Given the description of an element on the screen output the (x, y) to click on. 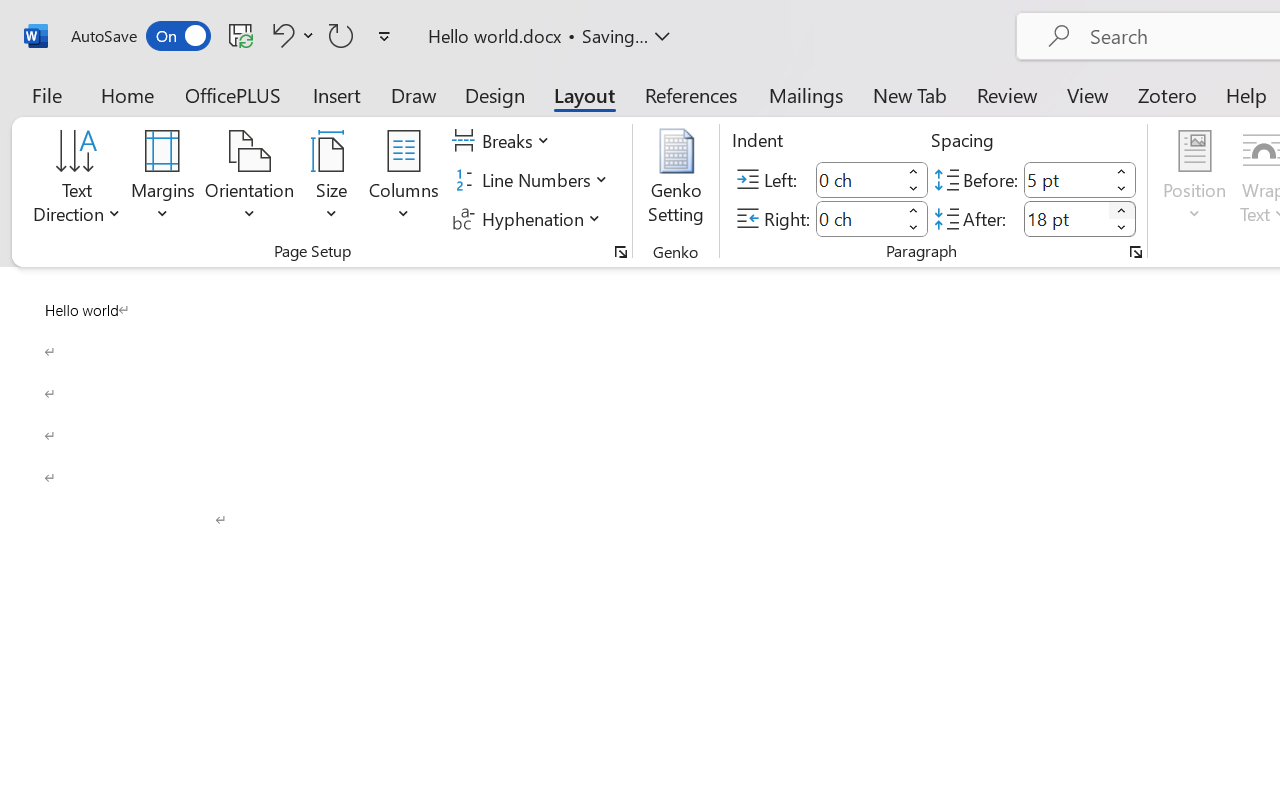
Repeat Paragraph Formatting (341, 35)
AutoSave (140, 35)
Genko Setting... (676, 179)
Line Numbers (532, 179)
Indent Left (858, 179)
Less (1121, 227)
Size (331, 179)
File Tab (46, 94)
Text Direction (77, 179)
Draw (413, 94)
OfficePLUS (233, 94)
Spacing Before (1066, 179)
Page Setup... (621, 252)
Spacing After (1066, 218)
Paragraph... (1135, 252)
